Given the description of an element on the screen output the (x, y) to click on. 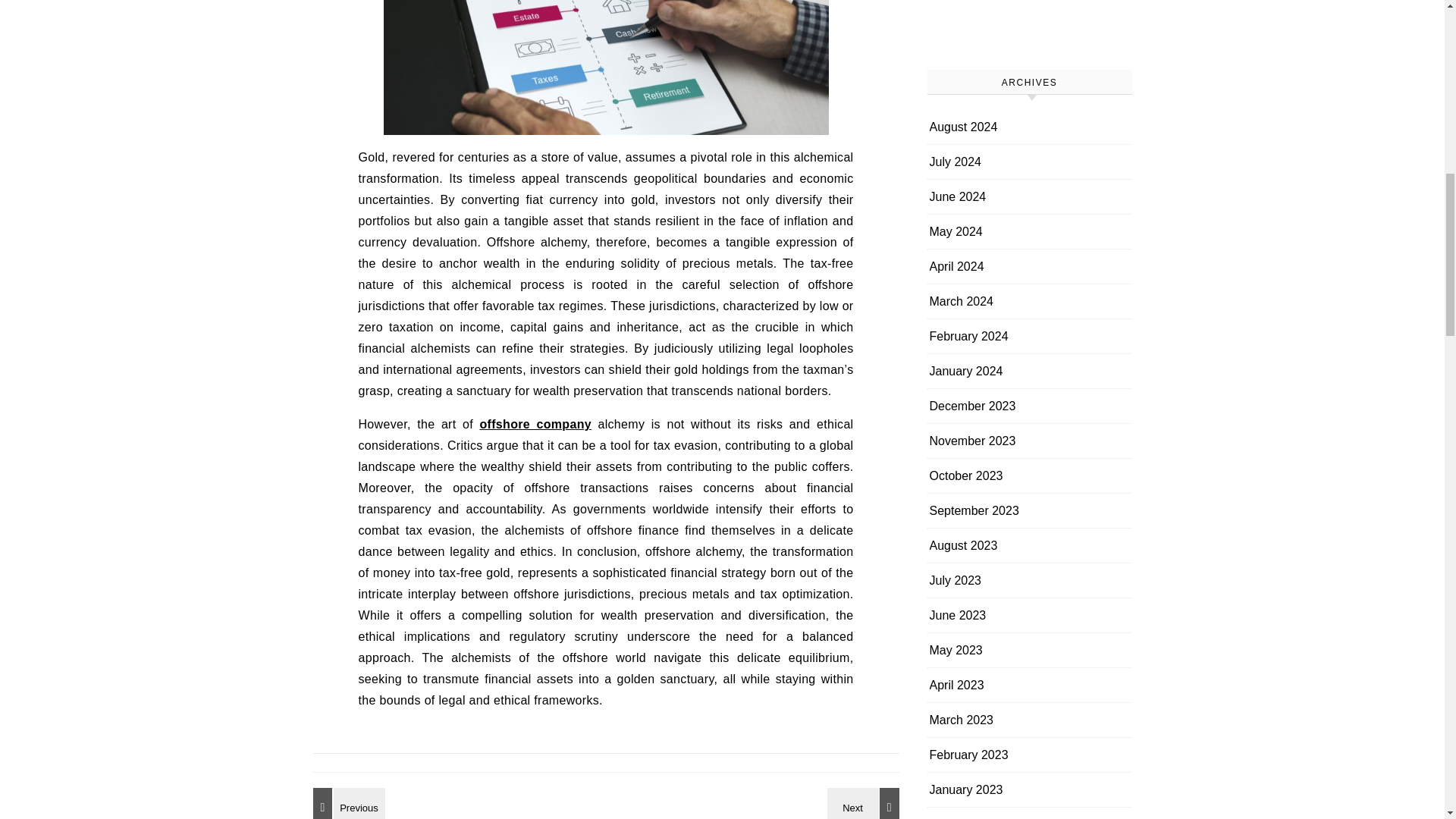
Fundamentals Of Digital Individual VPN Web servers (346, 803)
January 2024 (966, 370)
offshore company (535, 423)
February 2024 (969, 335)
May 2024 (956, 231)
April 2024 (957, 266)
July 2024 (955, 161)
June 2024 (958, 196)
December 2023 (973, 406)
